Given the description of an element on the screen output the (x, y) to click on. 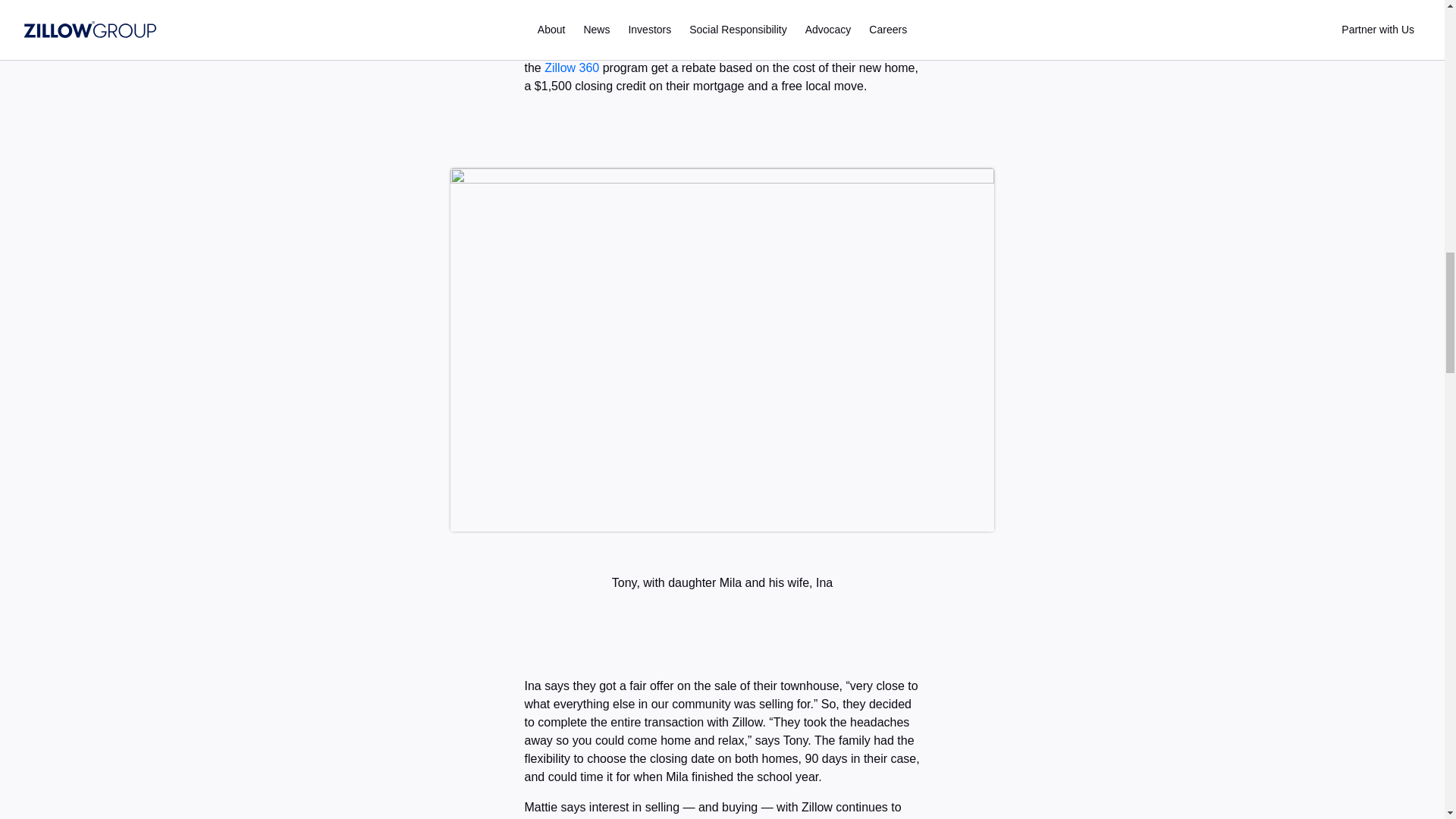
Zillow 360 (569, 67)
